Given the description of an element on the screen output the (x, y) to click on. 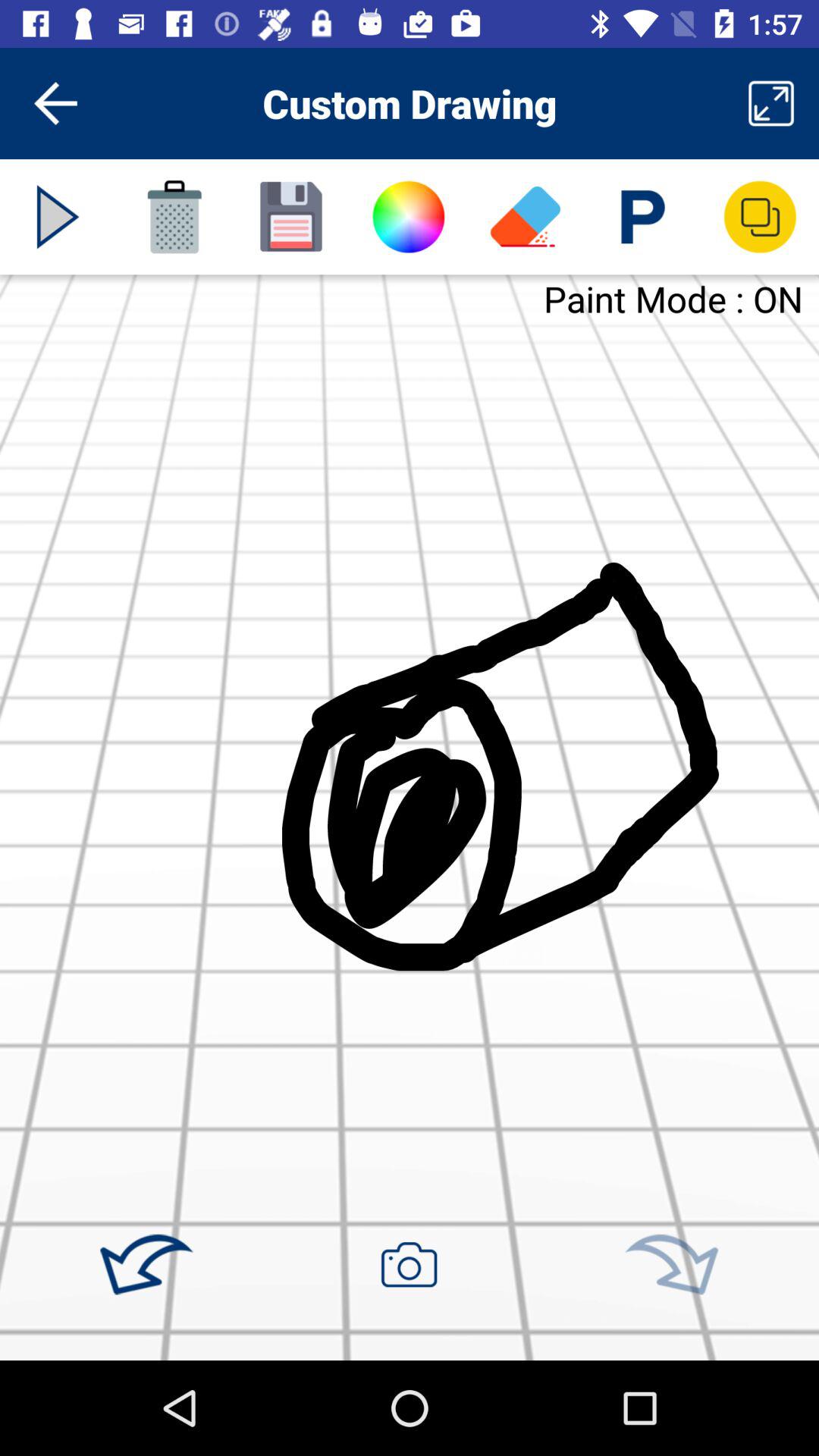
turn off item to the right of custom drawing item (771, 103)
